Given the description of an element on the screen output the (x, y) to click on. 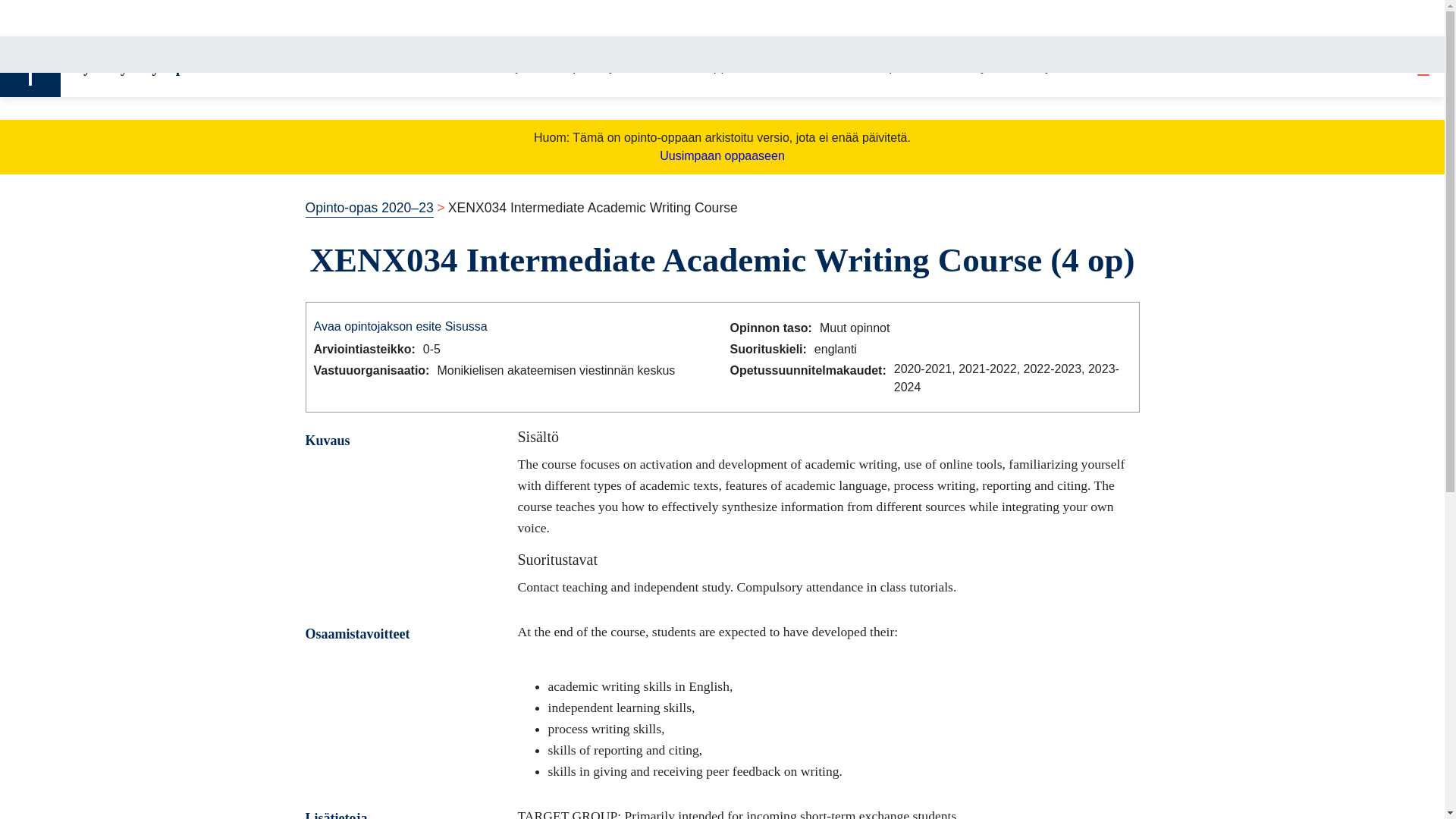
EN (1388, 67)
Uusimpaan oppaaseen (721, 155)
Avaa opintojakson esite Sisussa (400, 326)
Yhteystiedot (1053, 67)
Opiskelijalle (597, 67)
Jatkuva oppiminen (711, 67)
Yliopisto (891, 67)
Tutkimus (817, 67)
Hakijalle (514, 67)
